Given the description of an element on the screen output the (x, y) to click on. 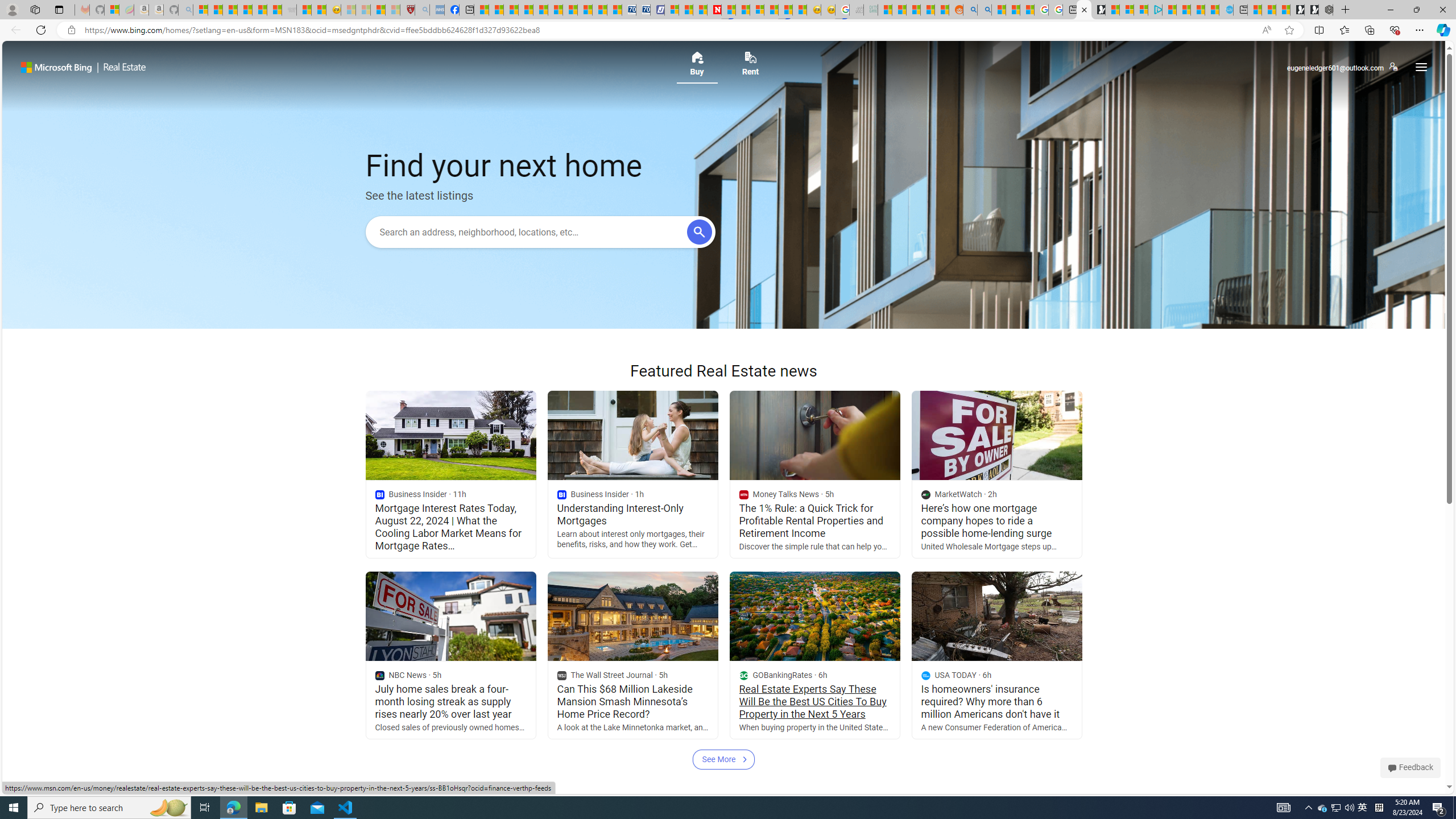
The Weather Channel - MSN (229, 9)
Robert H. Shmerling, MD - Harvard Health (406, 9)
Buy (696, 66)
